Given the description of an element on the screen output the (x, y) to click on. 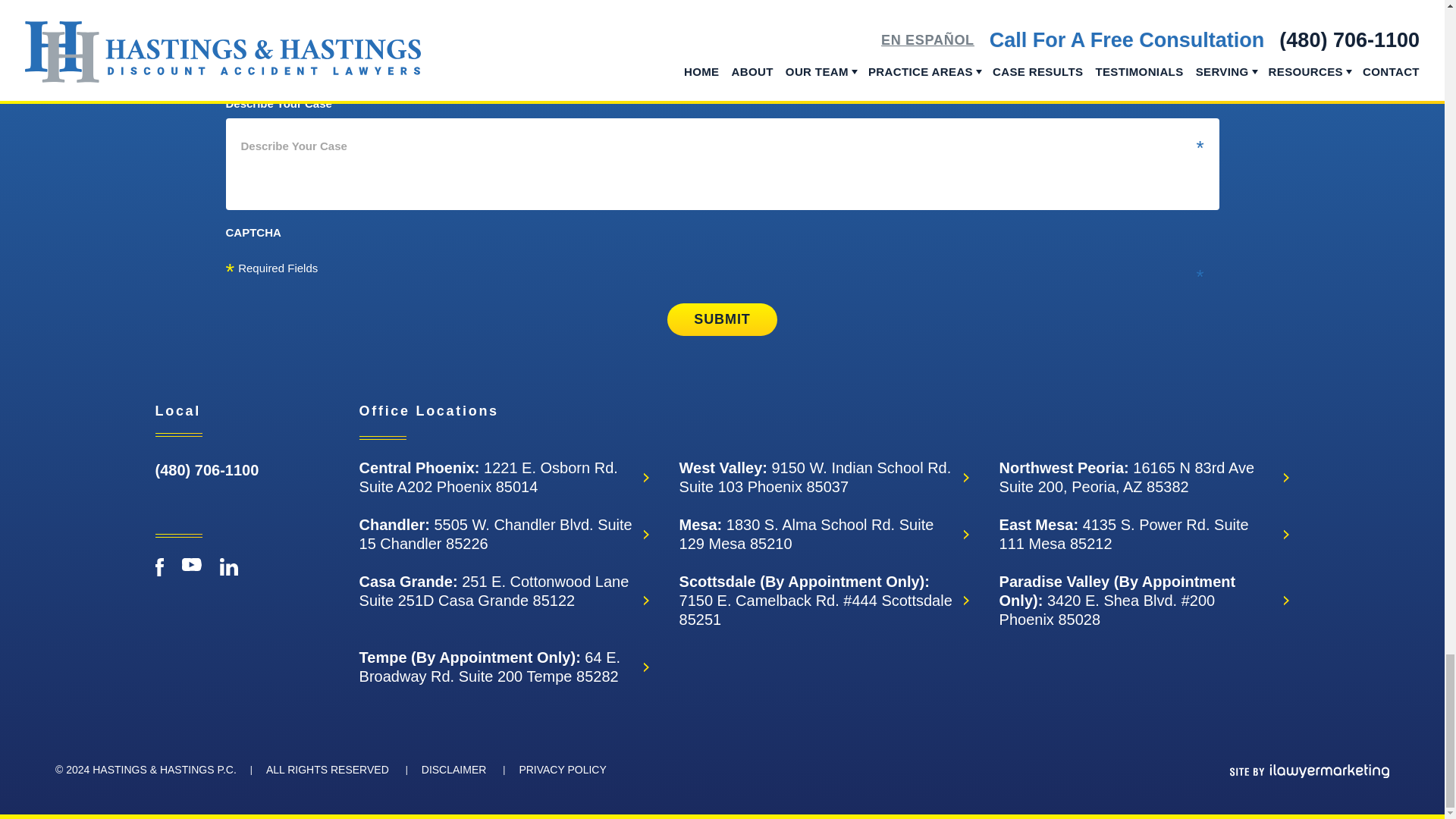
Submit (721, 318)
